Given the description of an element on the screen output the (x, y) to click on. 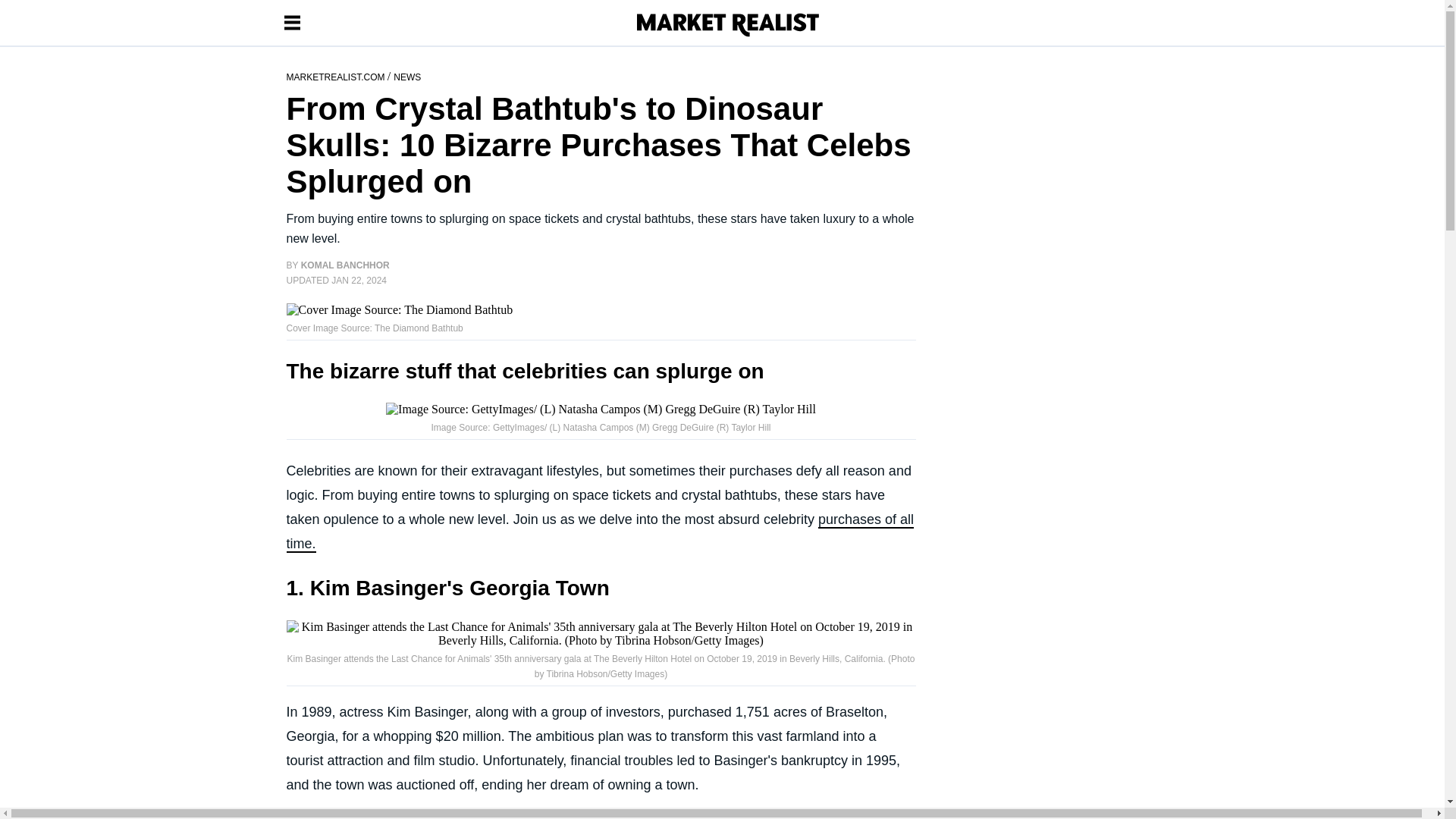
purchases of all time. (600, 531)
KOMAL BANCHHOR (345, 265)
NEWS (406, 75)
MARKETREALIST.COM (336, 75)
